Given the description of an element on the screen output the (x, y) to click on. 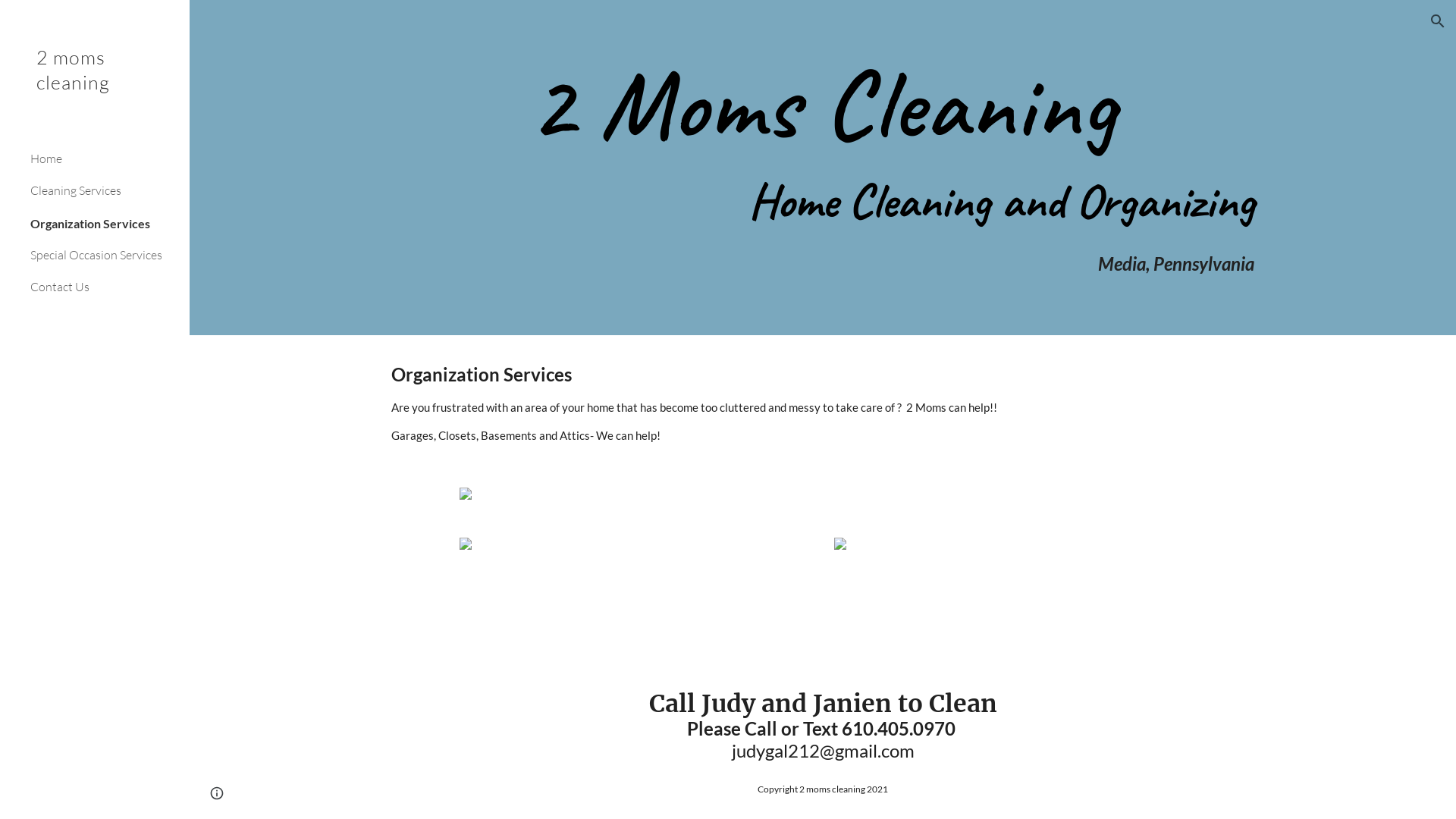
Organization Services Element type: text (103, 222)
Special Occasion Services Element type: text (103, 254)
2 moms cleaning Element type: text (94, 89)
Contact Us Element type: text (103, 287)
judygal212@gmail.com Element type: text (822, 750)
Cleaning Services Element type: text (103, 191)
Home Element type: text (103, 158)
